Given the description of an element on the screen output the (x, y) to click on. 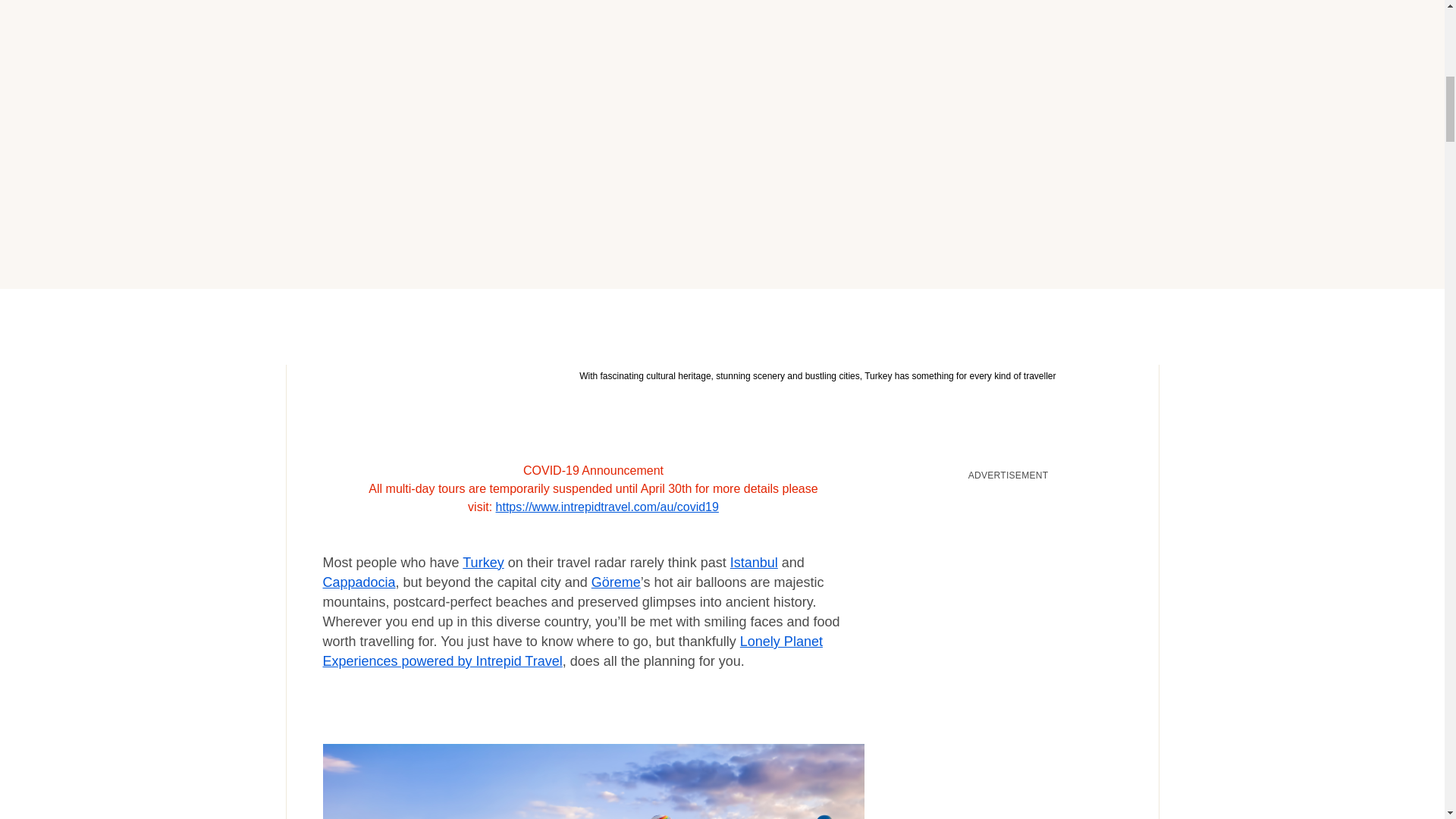
Lonely Planet Experiences powered by Intrepid Travel (572, 651)
3rd party ad content (1008, 583)
Turkey (483, 562)
Cappadocia (359, 581)
Istanbul (753, 562)
